Given the description of an element on the screen output the (x, y) to click on. 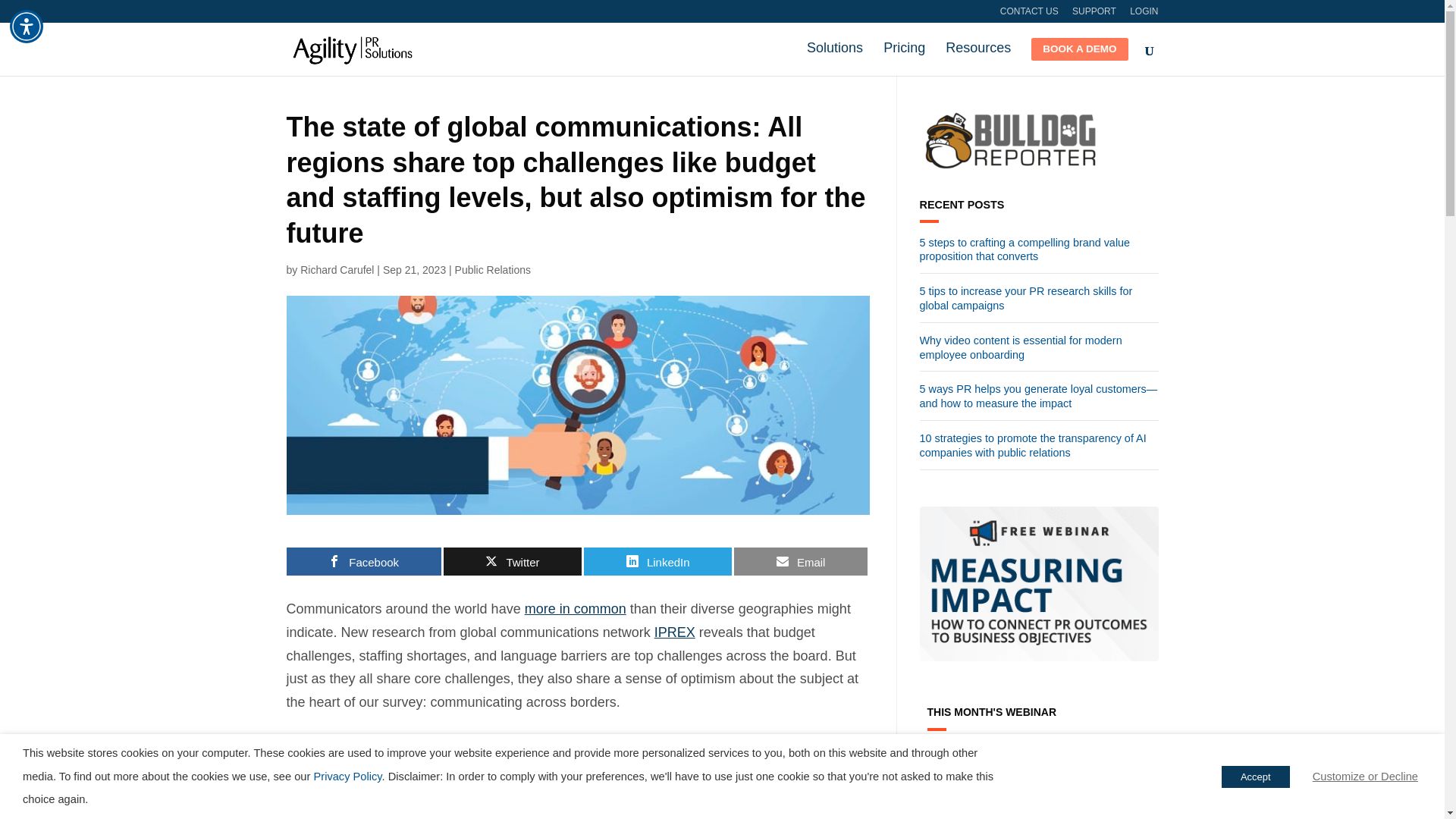
Pricing (903, 54)
SUPPORT (1093, 14)
Resources (977, 54)
LOGIN (1143, 14)
Posts by Richard Carufel (336, 269)
CONTACT US (1029, 14)
BOOK A DEMO (1078, 56)
Accessibility Menu (26, 26)
